Given the description of an element on the screen output the (x, y) to click on. 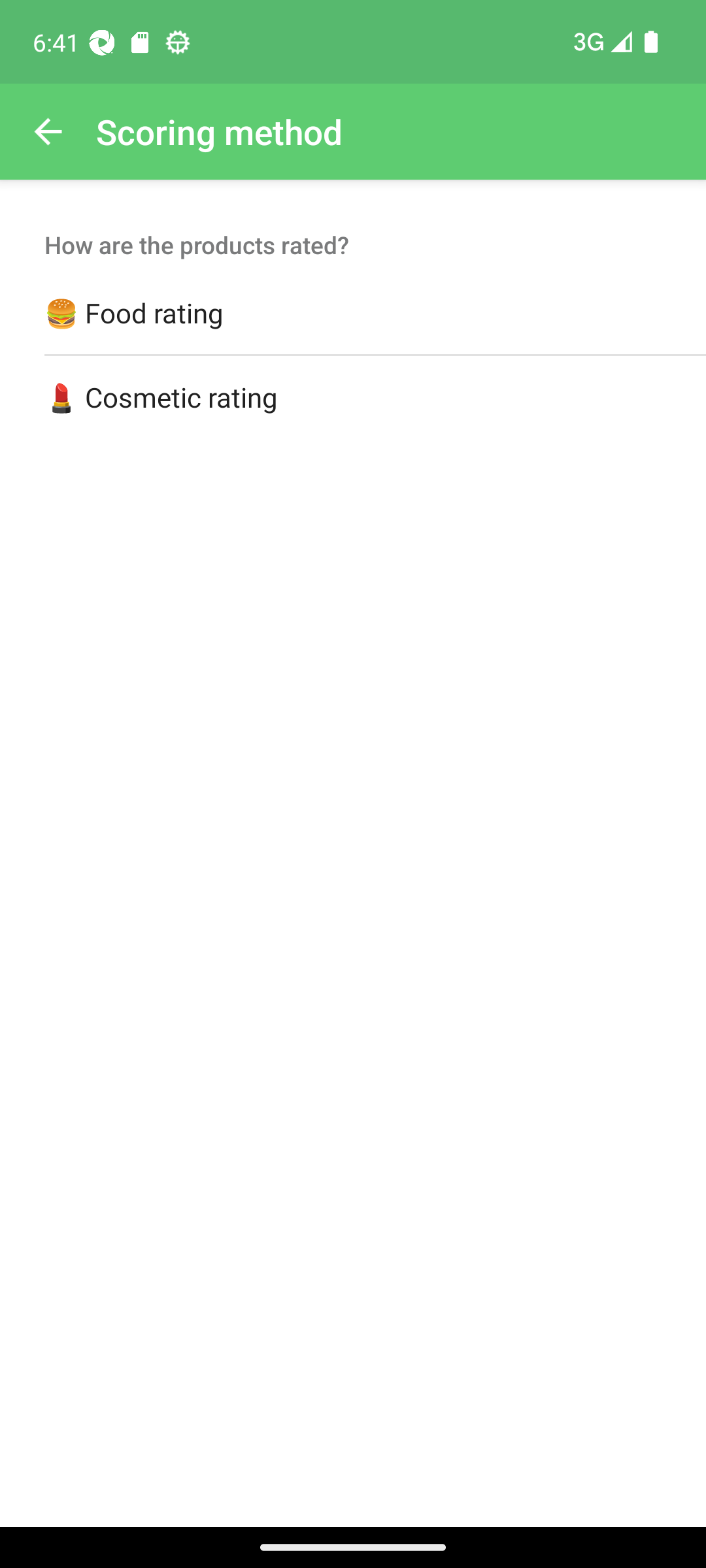
🍔 Food rating (353, 313)
💄 Cosmetic rating (353, 397)
